Given the description of an element on the screen output the (x, y) to click on. 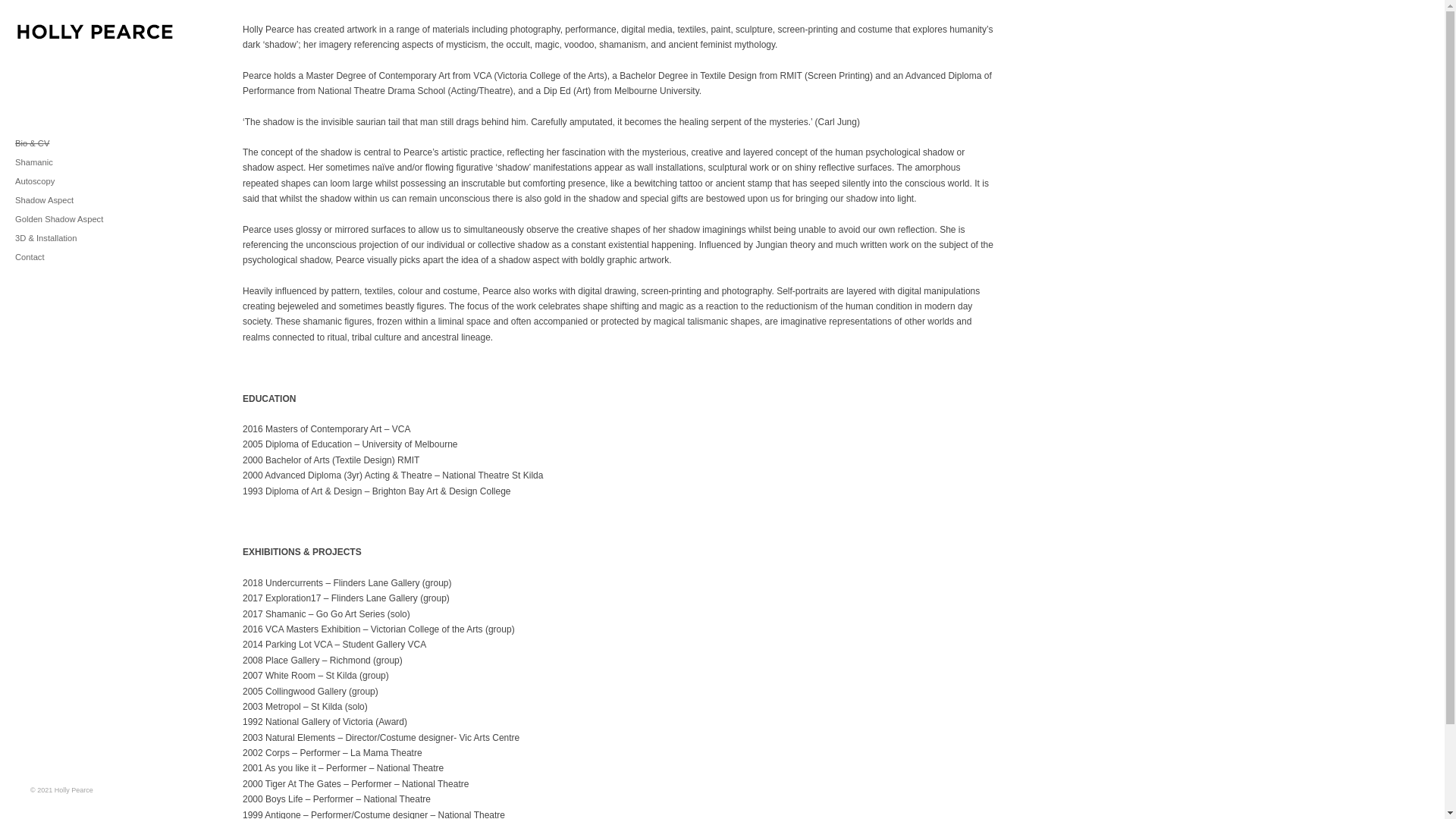
Autoscopy Element type: text (94, 181)
Bio & CV Element type: text (94, 143)
Shadow Aspect Element type: text (94, 200)
Golden Shadow Aspect Element type: text (94, 219)
3D & Installation Element type: text (94, 238)
Shamanic Element type: text (94, 162)
Contact Element type: text (94, 256)
